Given the description of an element on the screen output the (x, y) to click on. 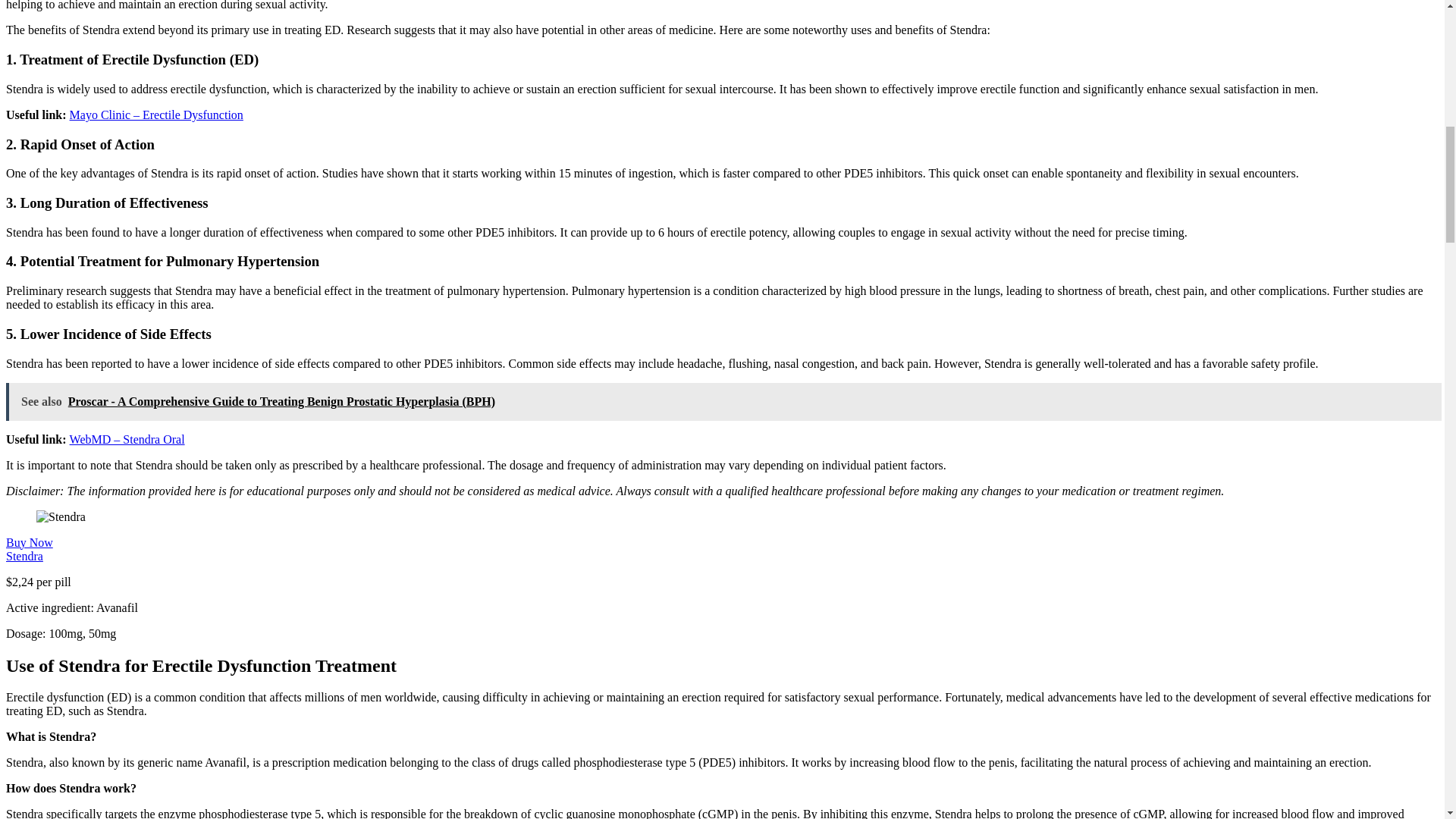
Stendra (24, 555)
Buy Now (28, 542)
Stendra (24, 555)
Buy Now (28, 542)
